Given the description of an element on the screen output the (x, y) to click on. 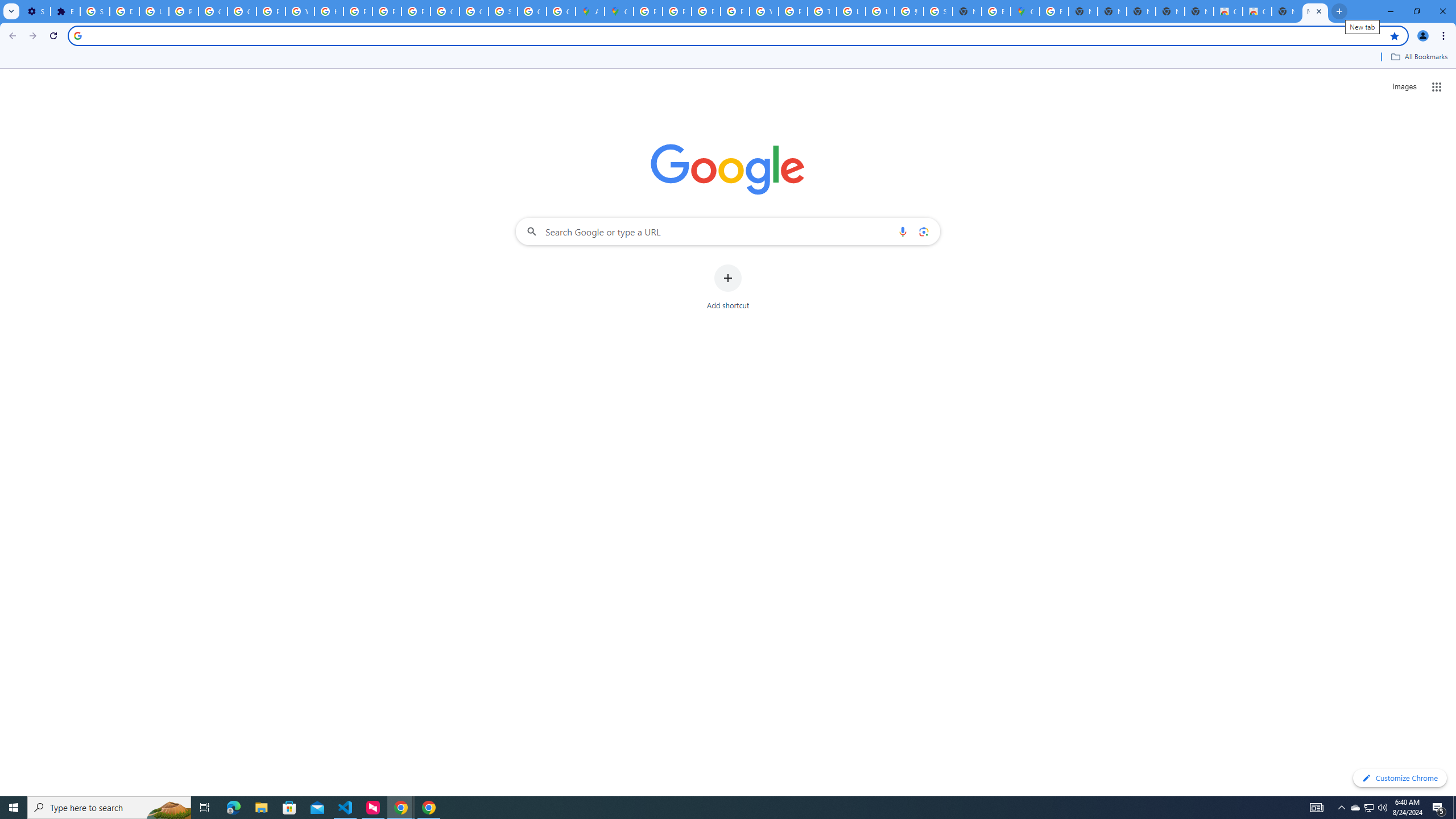
Search Google or type a URL (727, 230)
Privacy Help Center - Policies Help (677, 11)
Sign in - Google Accounts (938, 11)
Privacy Help Center - Policies Help (705, 11)
Sign in - Google Accounts (95, 11)
Create your Google Account (560, 11)
Sign in - Google Accounts (502, 11)
